Given the description of an element on the screen output the (x, y) to click on. 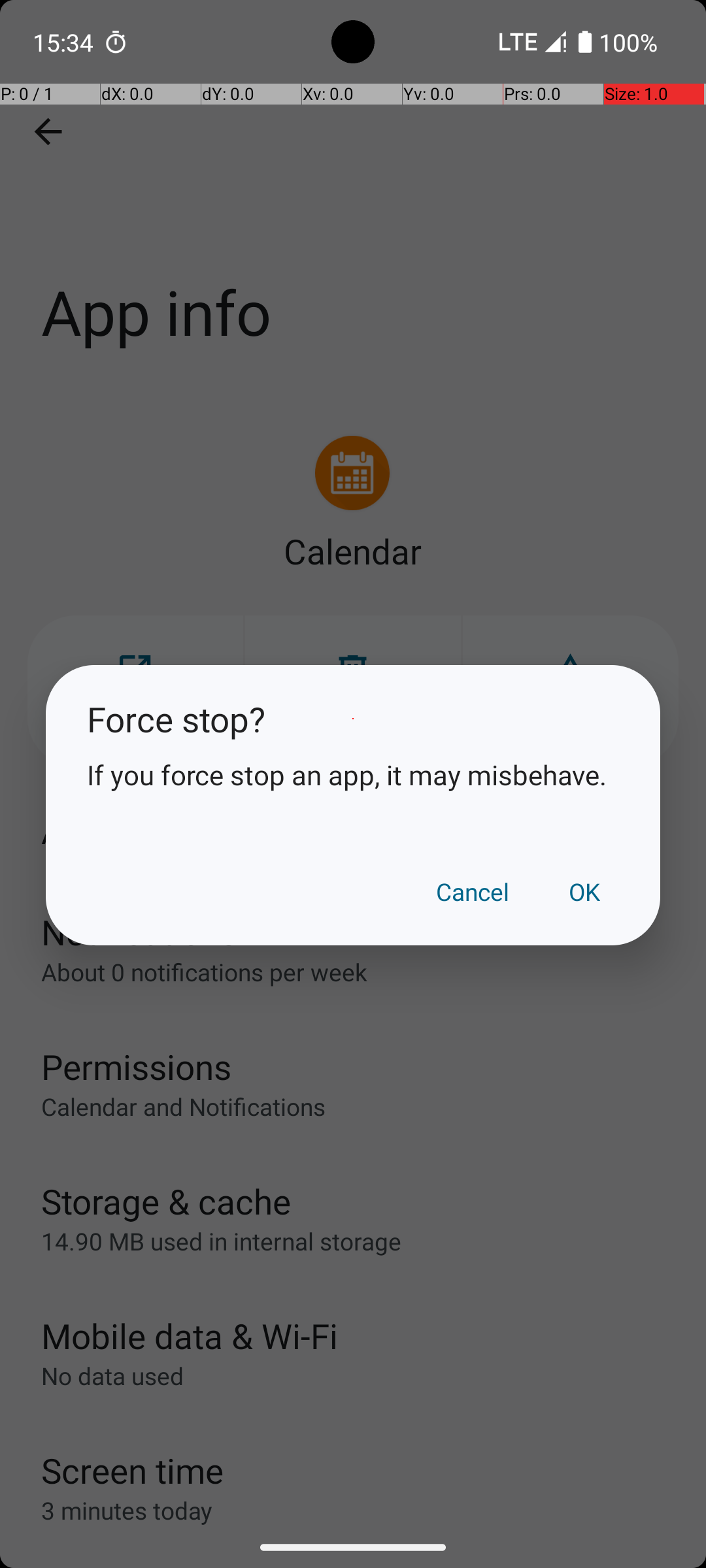
Force stop? Element type: android.widget.TextView (352, 718)
If you force stop an app, it may misbehave. Element type: android.widget.TextView (352, 774)
